Given the description of an element on the screen output the (x, y) to click on. 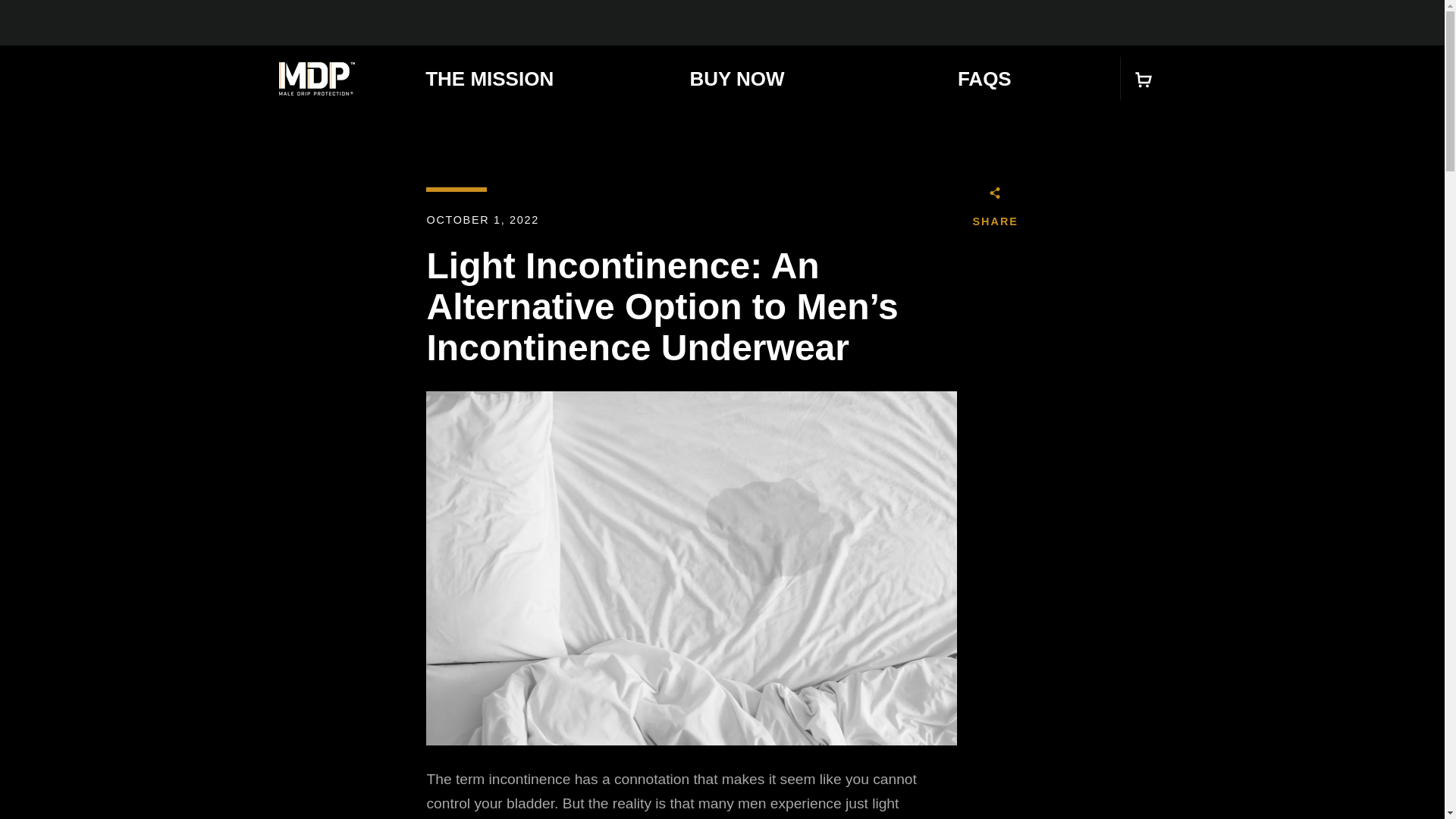
TERMS OF SERVICE (871, 689)
The Mission (489, 77)
Visa (1057, 778)
Male Drip Protection (317, 78)
FAQs (984, 77)
CONTACT US (510, 689)
MISSION (595, 689)
FAQS (984, 77)
View Cart (1143, 78)
BUY NOW (737, 77)
Powered by Shopify (528, 765)
Discover (988, 754)
SHARE (994, 210)
BUY NOW (423, 689)
American Express (883, 754)
